Given the description of an element on the screen output the (x, y) to click on. 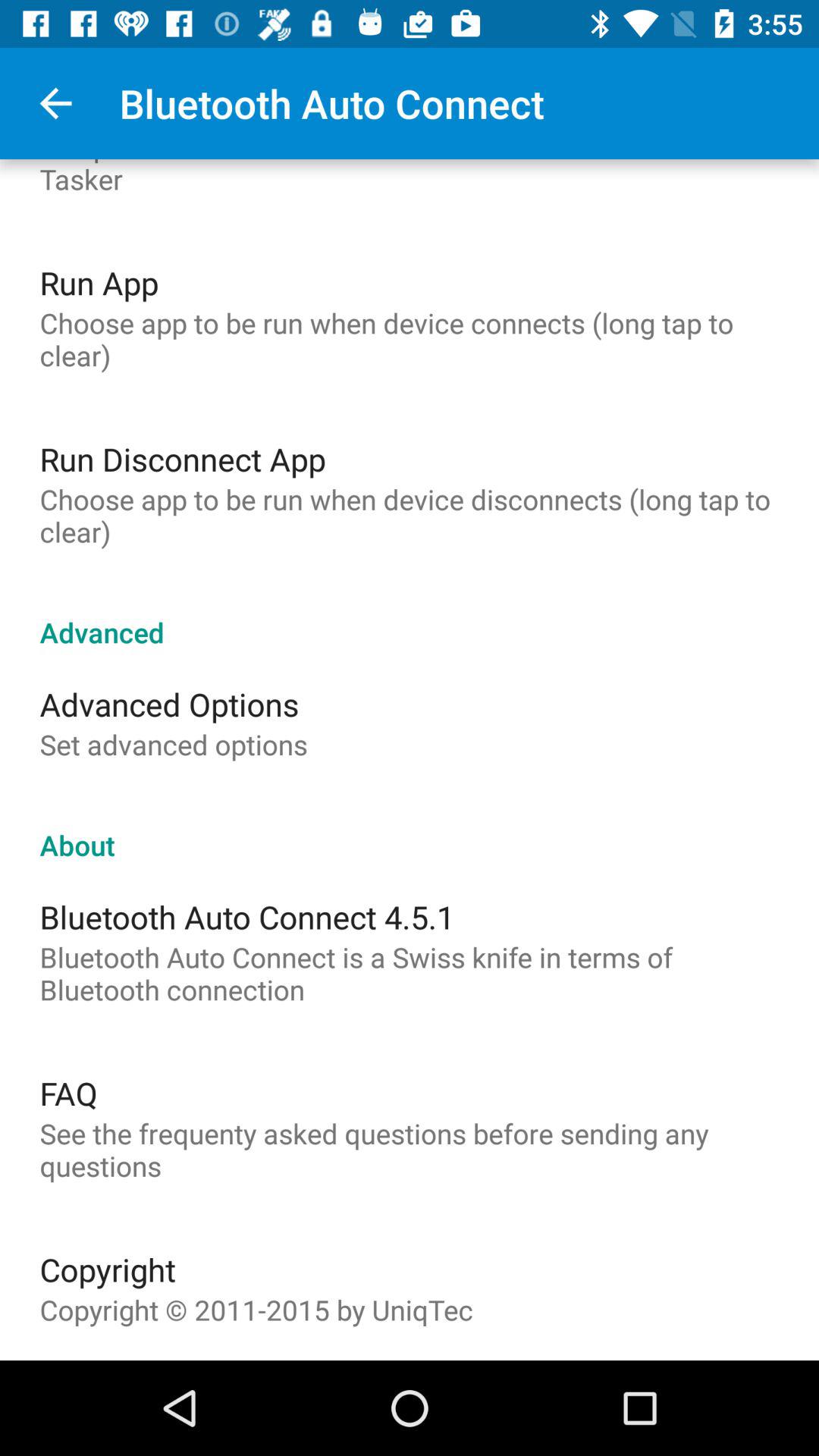
swipe to the the preference misc (409, 178)
